Given the description of an element on the screen output the (x, y) to click on. 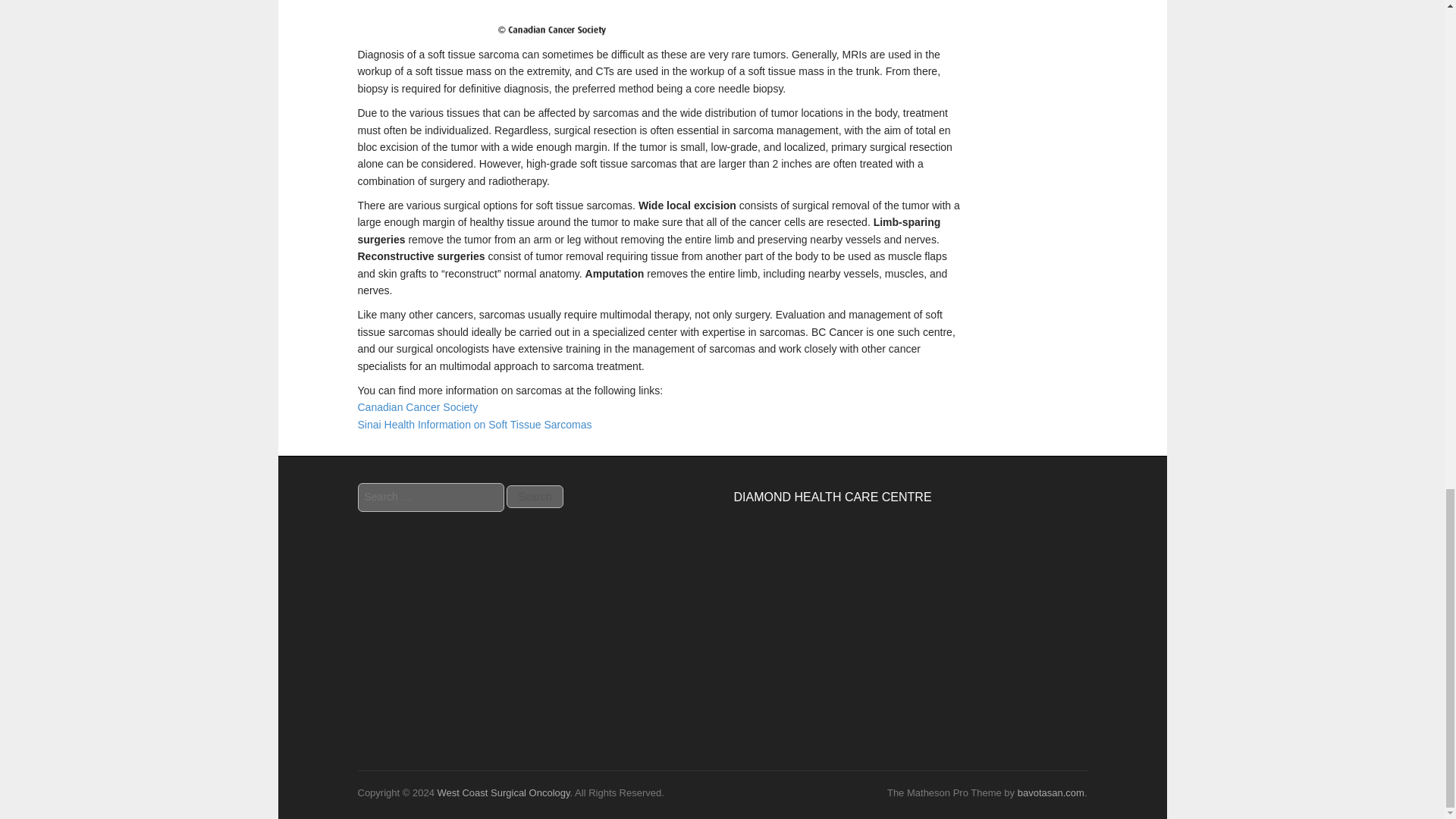
Canadian Cancer Society (418, 407)
bavotasan.com (1050, 792)
Search (534, 496)
Sinai Health Information on Soft Tissue Sarcomas (475, 424)
West Coast Surgical Oncology (502, 792)
Search (534, 496)
Search (534, 496)
